Given the description of an element on the screen output the (x, y) to click on. 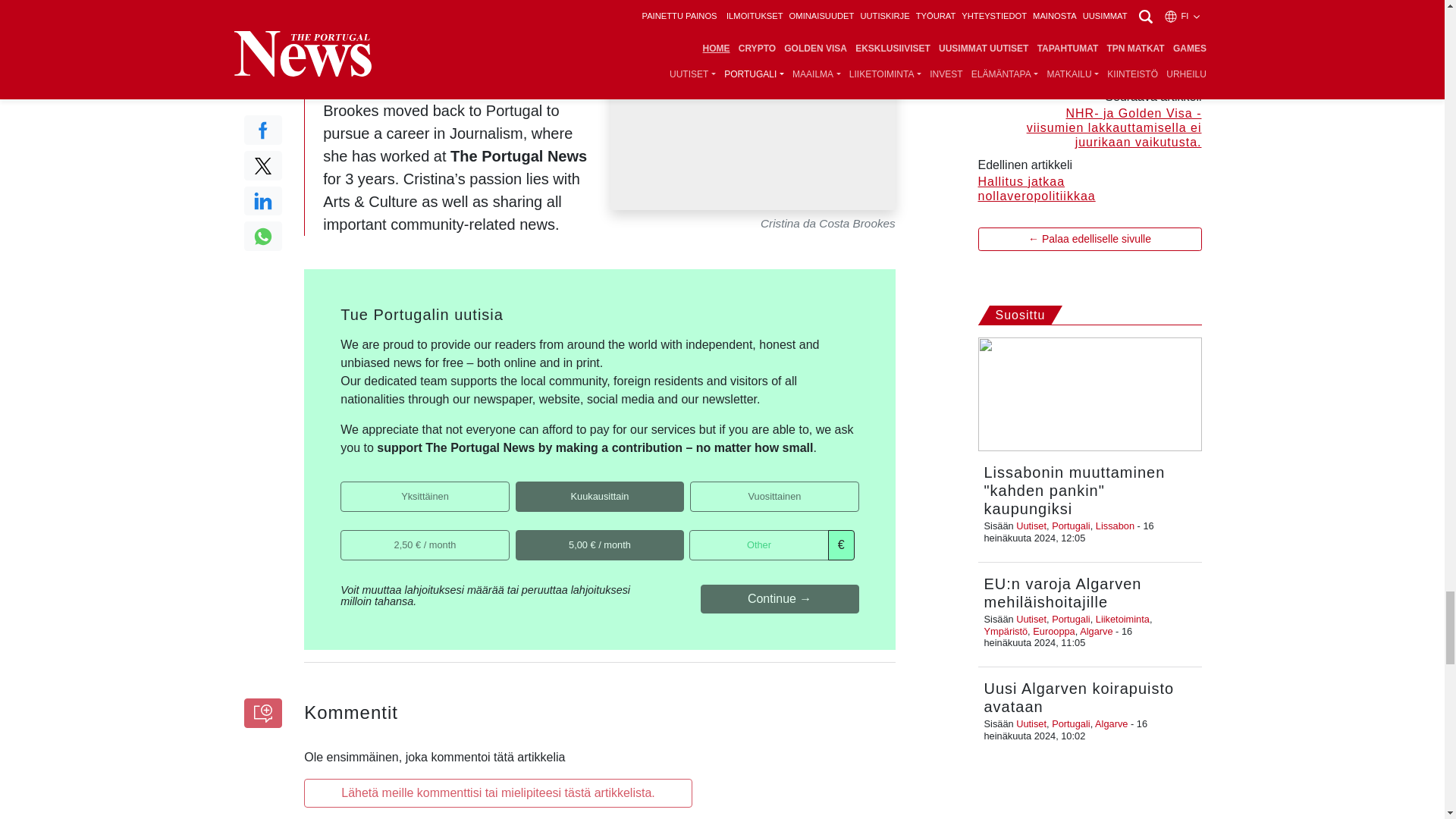
5 (520, 534)
2.5 (345, 534)
single (345, 486)
P-6T2758016F920900CMGGQYMQ (520, 486)
P-18662245734186221MGVD6SI (695, 486)
